Given the description of an element on the screen output the (x, y) to click on. 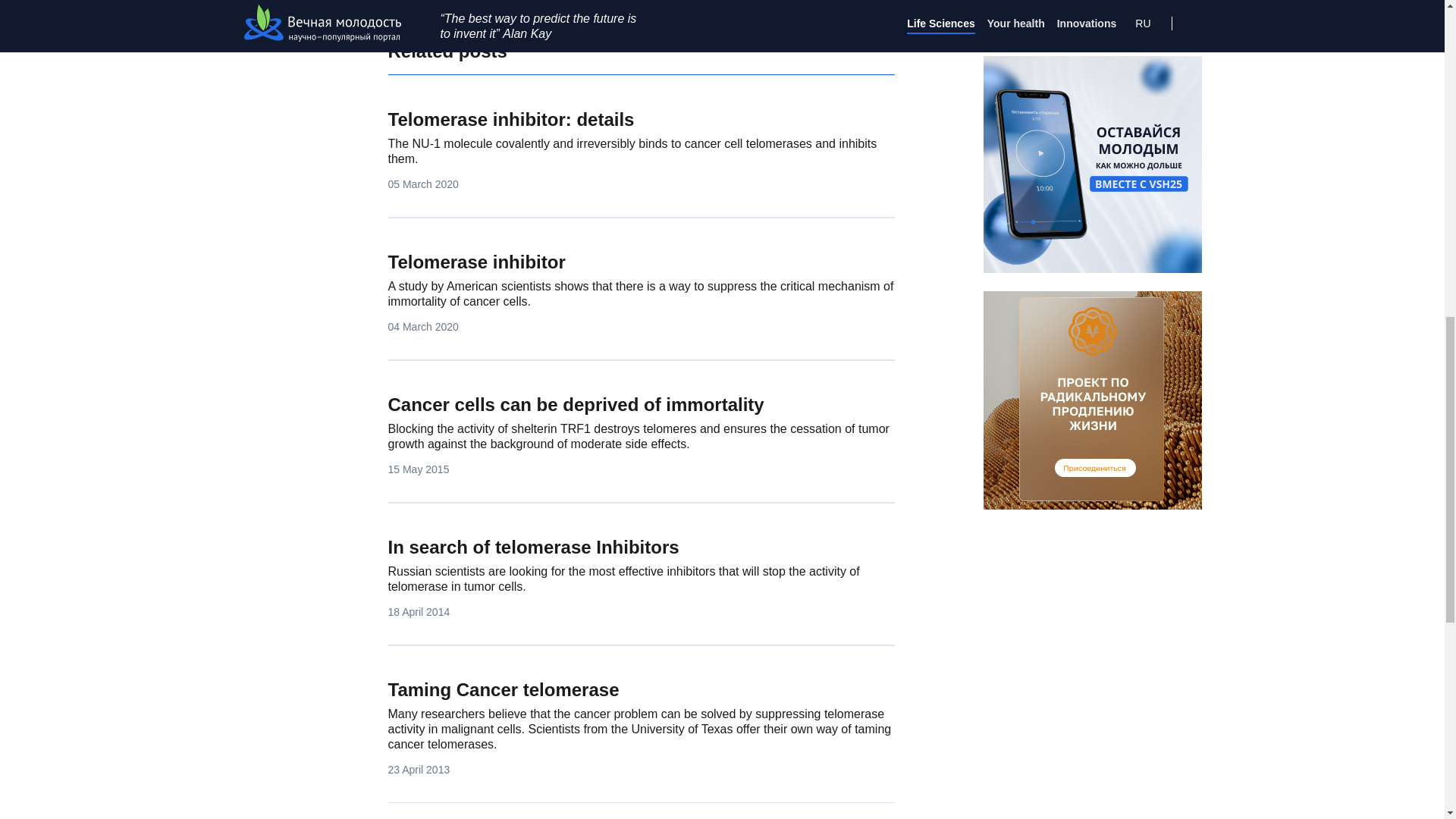
drug development (552, 3)
telomeres (652, 3)
cancer treatment (437, 3)
